Given the description of an element on the screen output the (x, y) to click on. 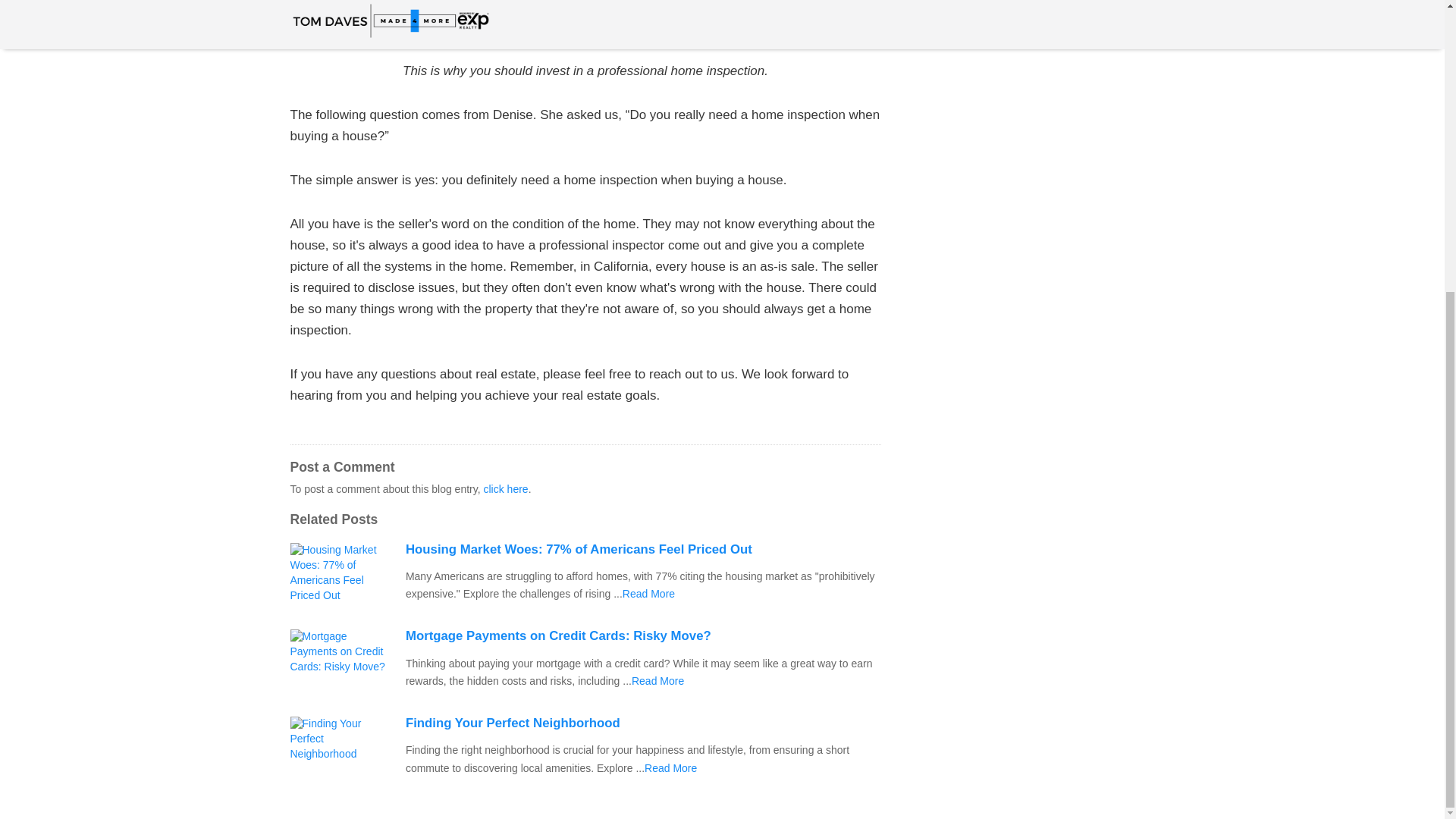
Why You Should Get a Home Inspection (671, 767)
Mortgage Payments on Credit Cards: Risky Move? (643, 635)
Why You Should Get a Home Inspection (649, 593)
YouTube video player (501, 15)
Why You Should Get a Home Inspection (657, 680)
Finding Your Perfect Neighborhood (643, 723)
